Given the description of an element on the screen output the (x, y) to click on. 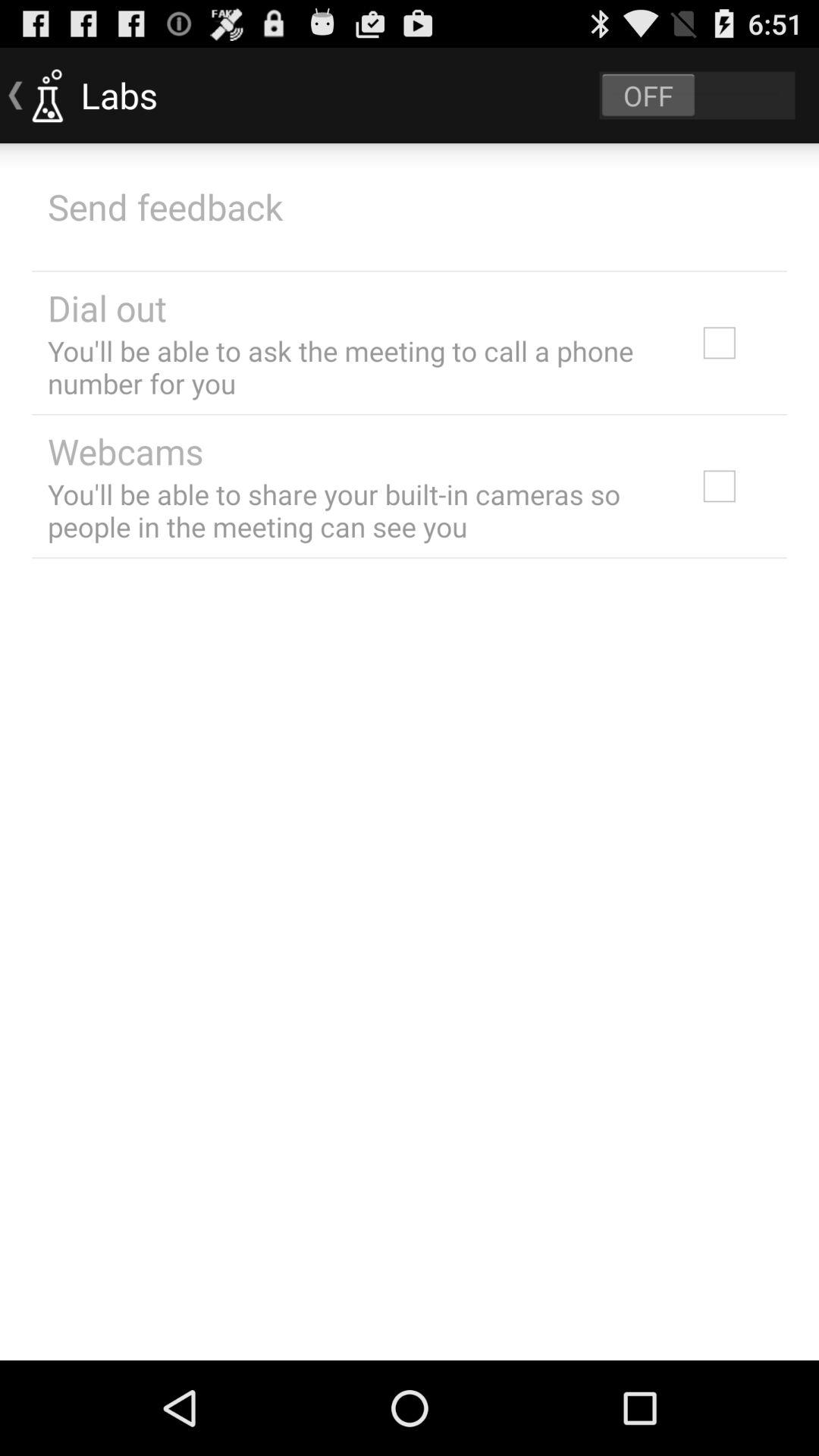
the radio button represented to off or on option to particular information (697, 95)
